Given the description of an element on the screen output the (x, y) to click on. 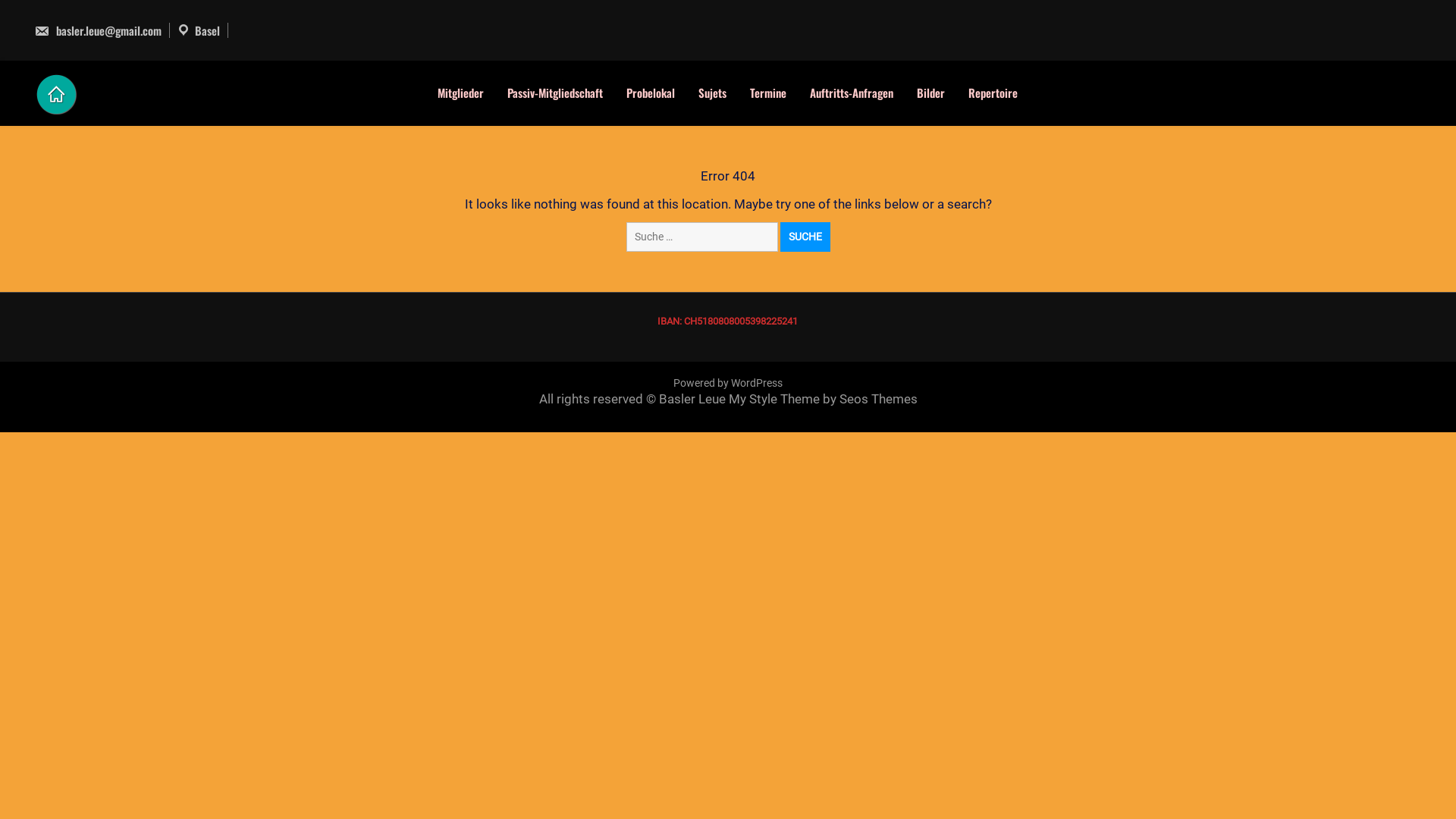
Mitglieder Element type: text (460, 93)
Auftritts-Anfragen Element type: text (851, 93)
Powered by WordPress Element type: text (727, 382)
Repertoire Element type: text (993, 93)
Passiv-Mitgliedschaft Element type: text (555, 93)
Probelokal Element type: text (651, 93)
My Style Theme by Seos Themes Element type: text (822, 398)
Sujets Element type: text (712, 93)
Bilder Element type: text (931, 93)
Termine Element type: text (768, 93)
Suche Element type: text (804, 236)
basler.leue@gmail.com Element type: text (97, 29)
